Given the description of an element on the screen output the (x, y) to click on. 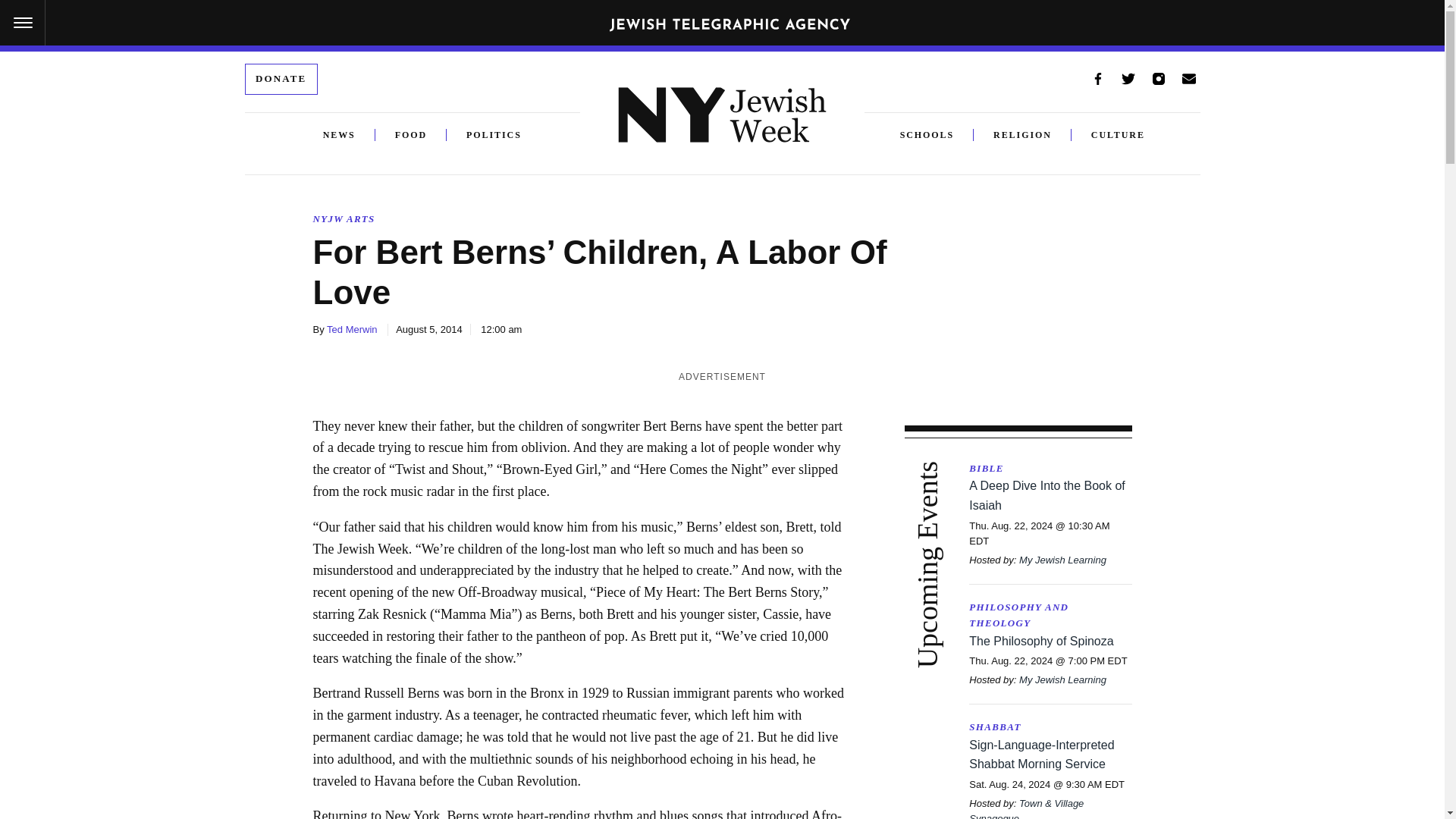
NEWS (338, 134)
Philosophy and Theology (1050, 615)
Bible (1050, 468)
Shabbat (1050, 727)
RELIGION (1022, 134)
Mobile menu toggle (22, 22)
POLITICS (483, 134)
SCHOOLS (936, 134)
DONATE (280, 79)
CULTURE (1117, 134)
